Given the description of an element on the screen output the (x, y) to click on. 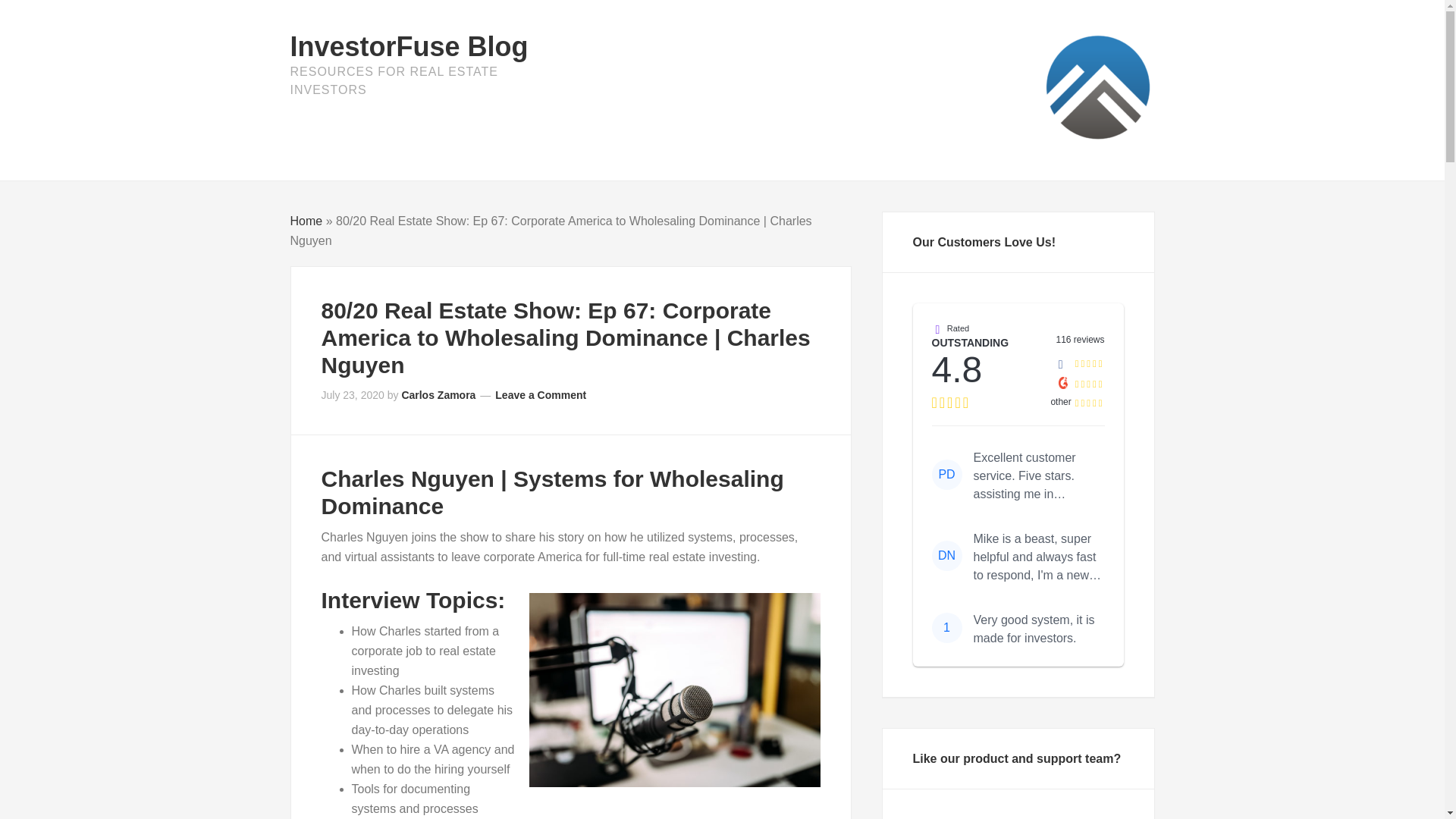
Home (305, 220)
InvestorFuse Blog (408, 46)
Carlos Zamora (438, 395)
Leave a Comment (540, 395)
